Given the description of an element on the screen output the (x, y) to click on. 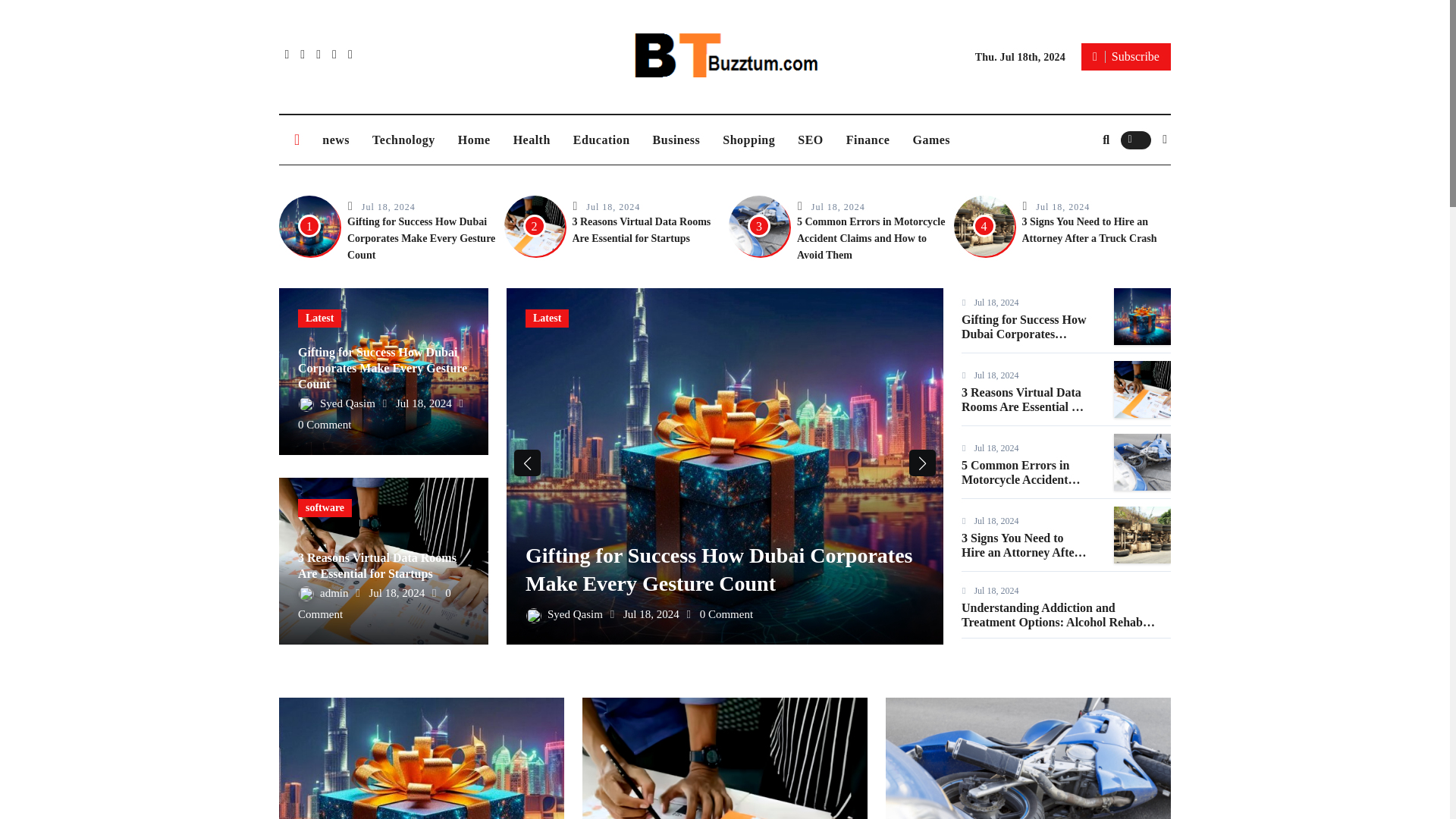
Jul 18, 2024 (837, 206)
Health (532, 139)
Latest (319, 318)
Education (602, 139)
Jul 18, 2024 (1062, 206)
Games (930, 139)
Business (676, 139)
Finance (867, 139)
Subscribe (1125, 56)
Health (532, 139)
3 Reasons Virtual Data Rooms Are Essential for Startups (641, 230)
Home (474, 139)
Education (602, 139)
news (336, 139)
